Given the description of an element on the screen output the (x, y) to click on. 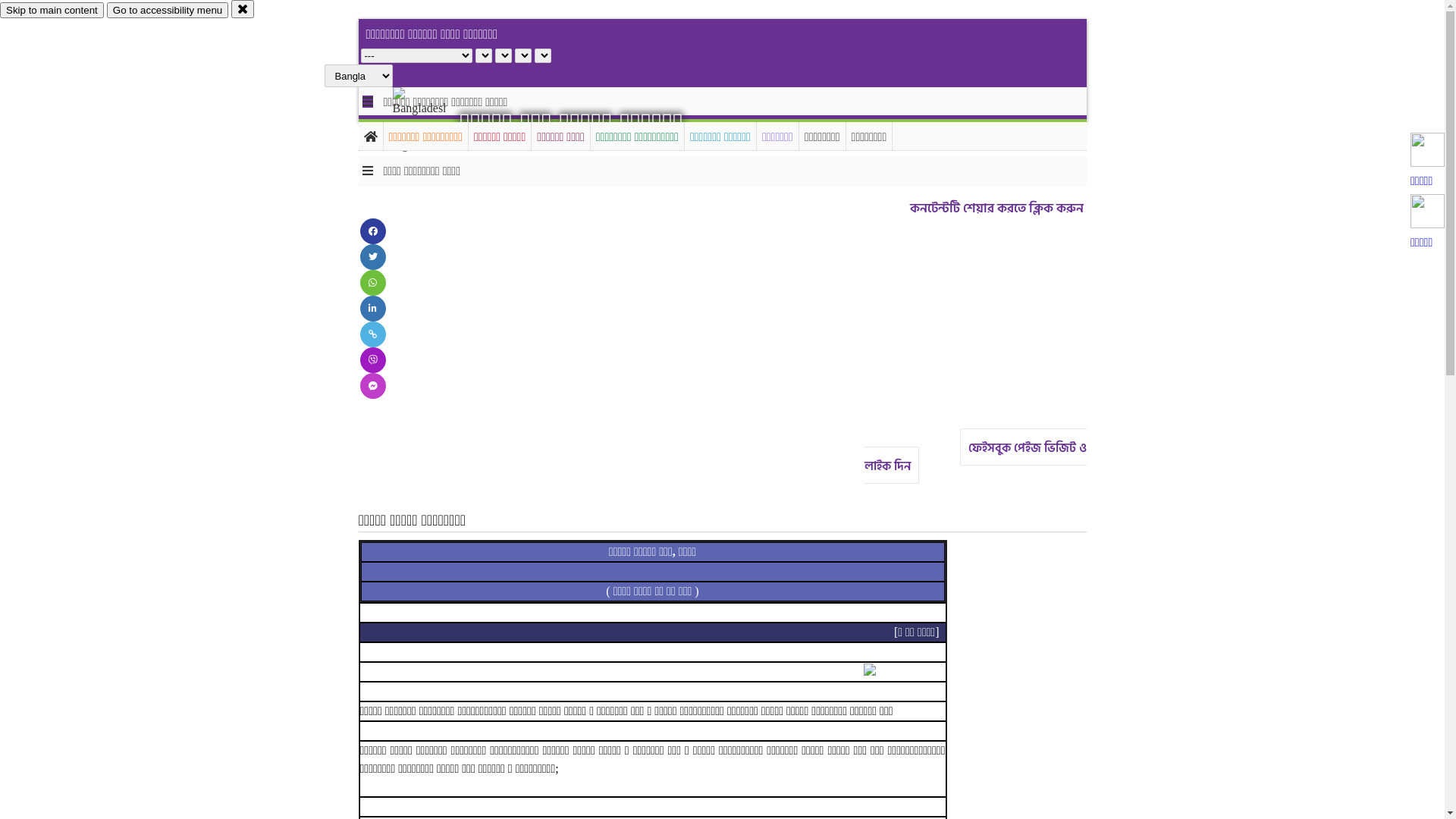
Go to accessibility menu Element type: text (167, 10)
close Element type: hover (242, 9)
Skip to main content Element type: text (51, 10)

                
             Element type: hover (431, 120)
